Given the description of an element on the screen output the (x, y) to click on. 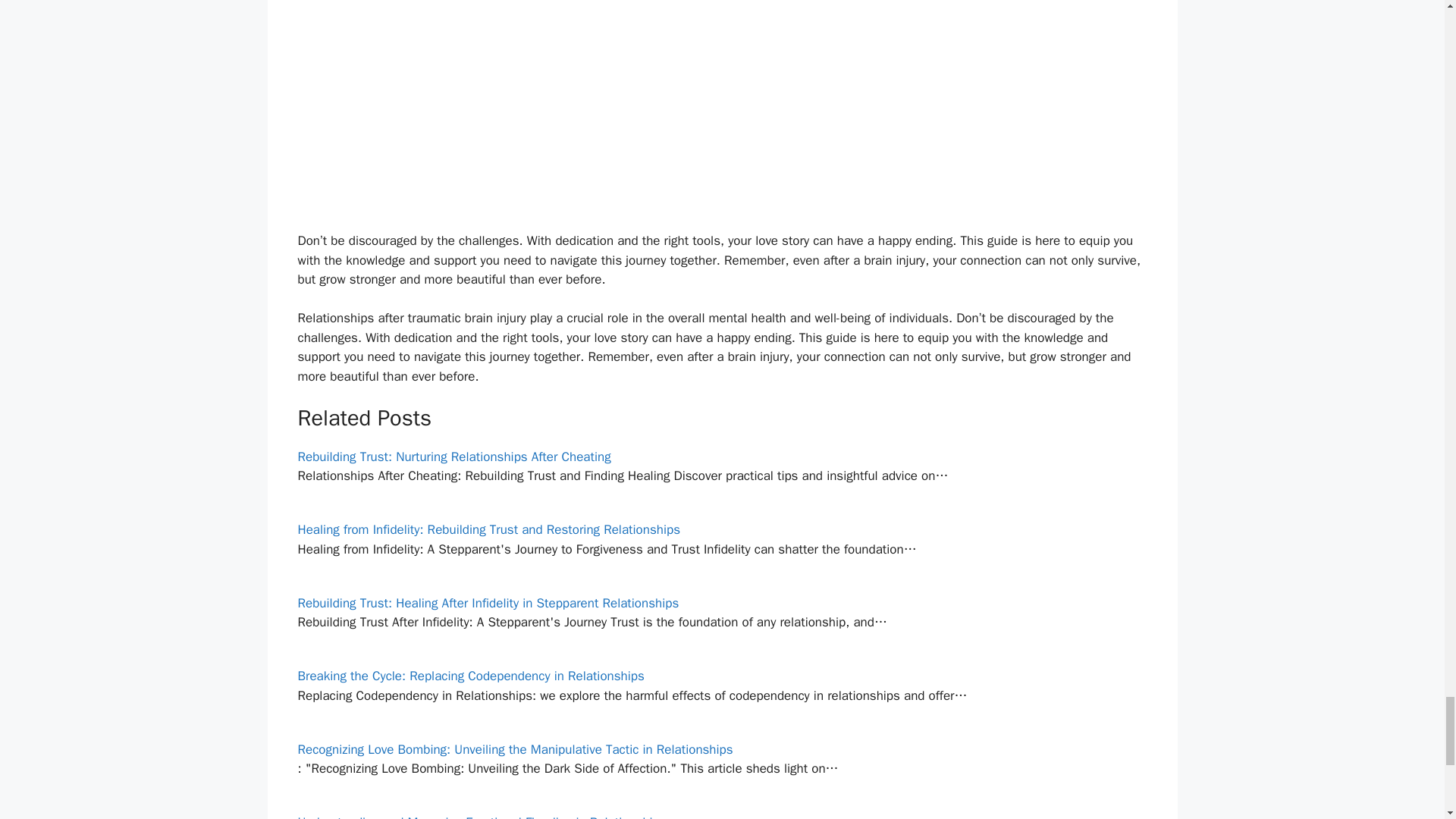
Rebuilding Trust: Nurturing Relationships After Cheating (453, 456)
Breaking the Cycle: Replacing Codependency in Relationships (470, 675)
